Given the description of an element on the screen output the (x, y) to click on. 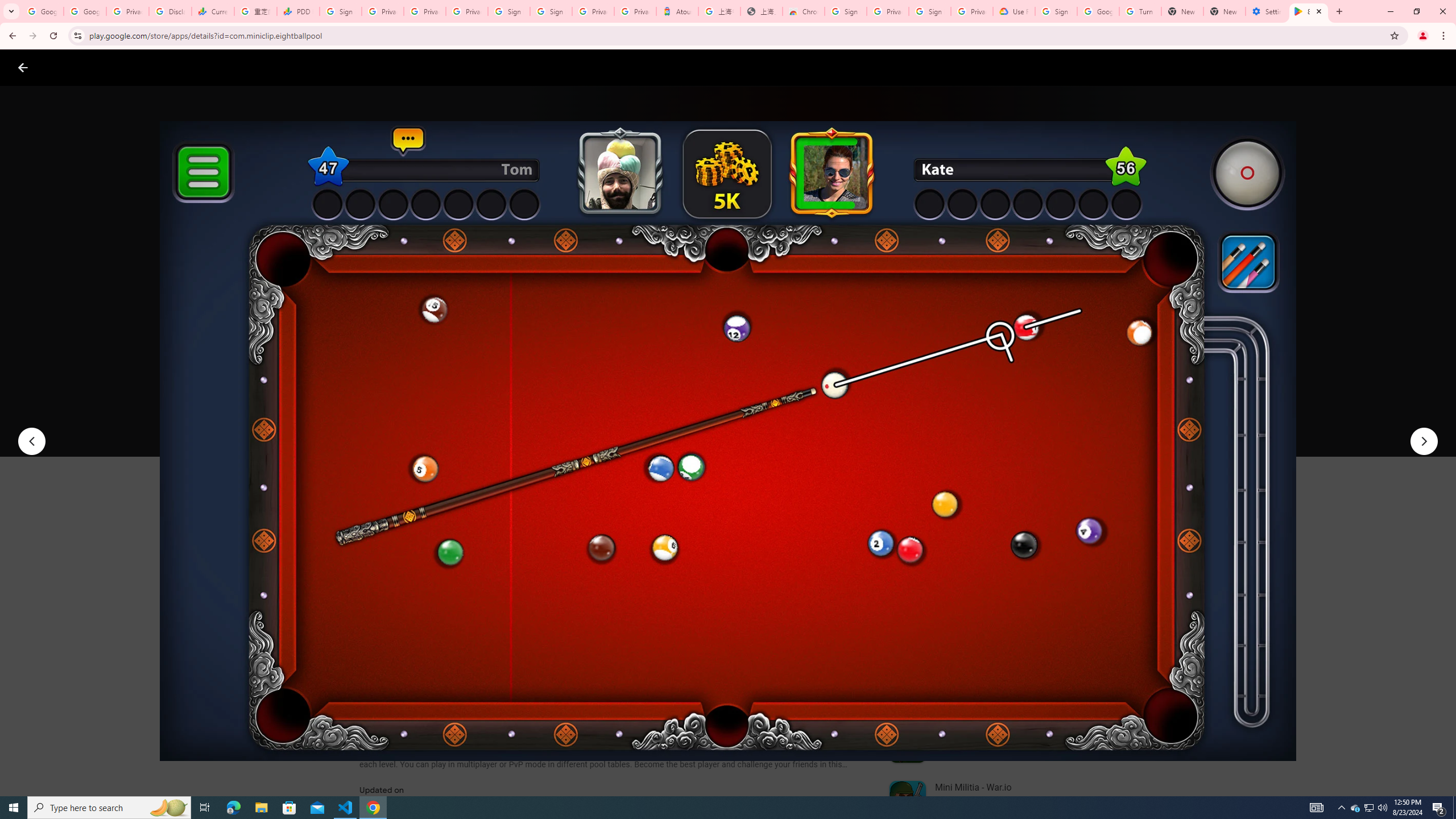
8 Ball Pool - Apps on Google Play (1308, 11)
Google Play logo (64, 67)
Google Account Help (1097, 11)
Privacy Checkup (467, 11)
Sign in - Google Accounts (340, 11)
Games (141, 67)
Content rating (553, 373)
